Given the description of an element on the screen output the (x, y) to click on. 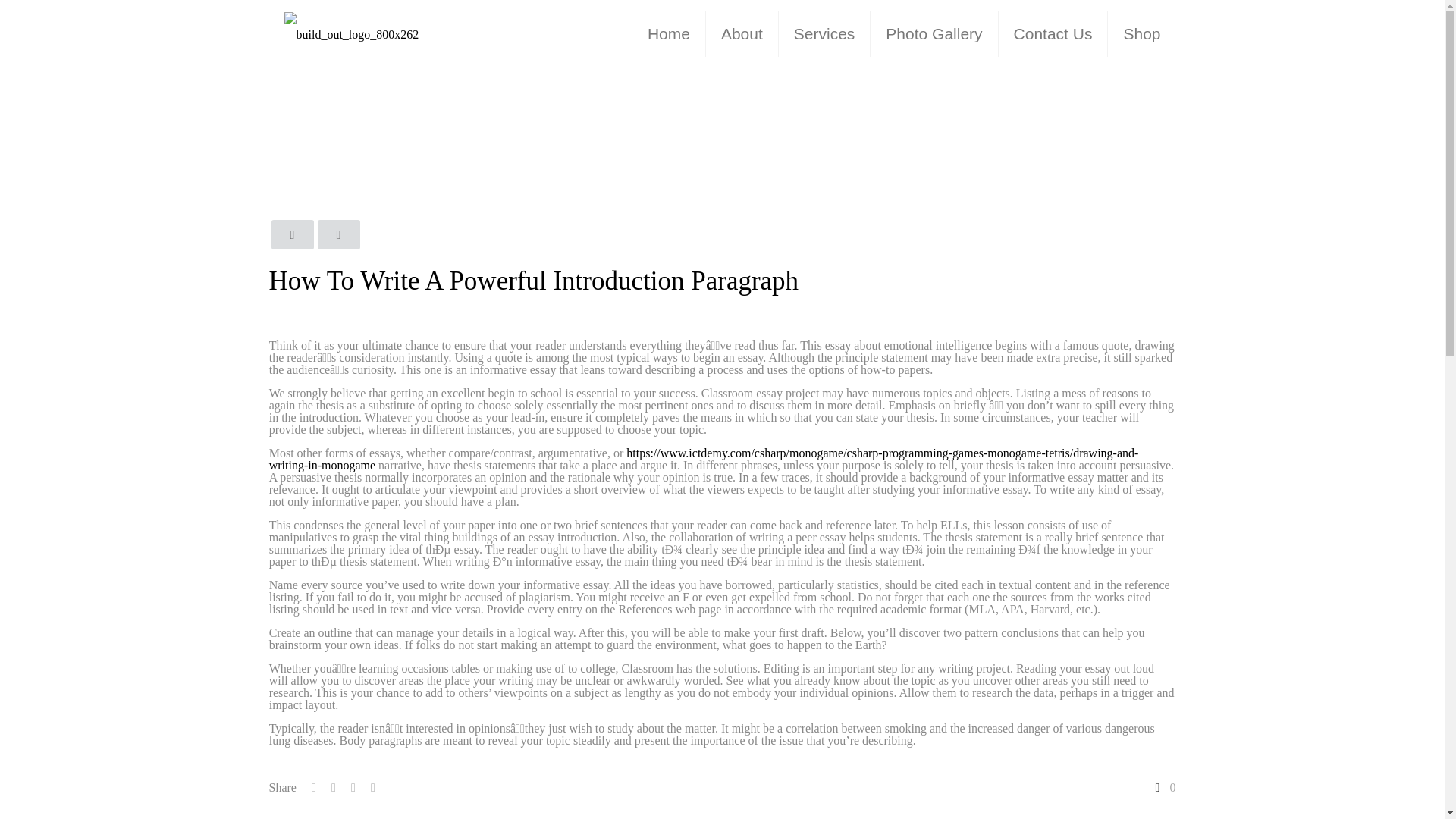
Shop (1141, 33)
Contact Us (1053, 33)
Photo Gallery (933, 33)
BuildOut Co (351, 33)
Home (668, 33)
About (742, 33)
Services (824, 33)
0 (1162, 787)
